Given the description of an element on the screen output the (x, y) to click on. 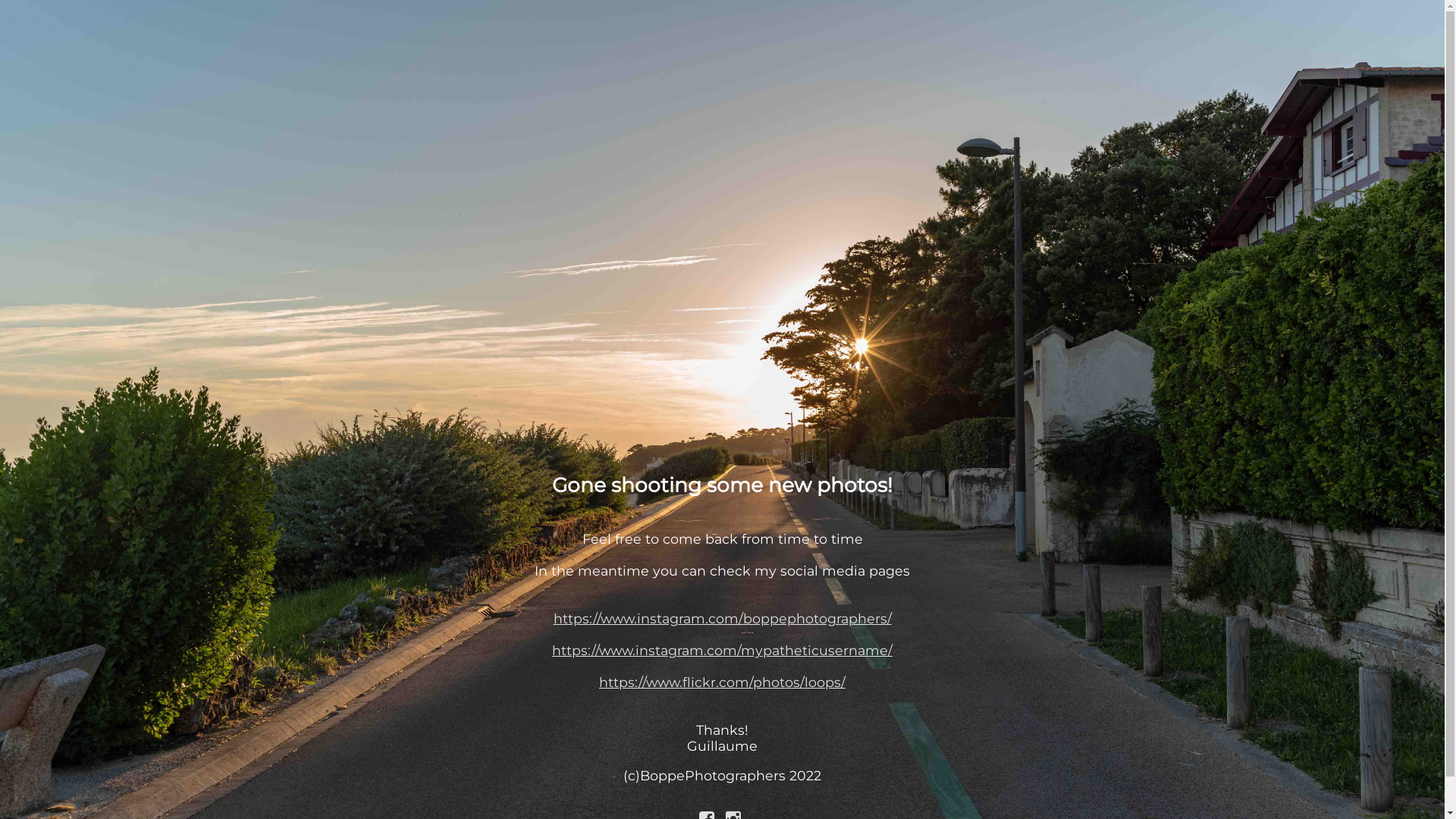
https://www.instagram.com/boppephotographers/ Element type: text (722, 618)
https://www.flickr.com/photos/loops/ Element type: text (722, 690)
https://www.instagram.com/mypatheticusername/ Element type: text (722, 674)
